Given the description of an element on the screen output the (x, y) to click on. 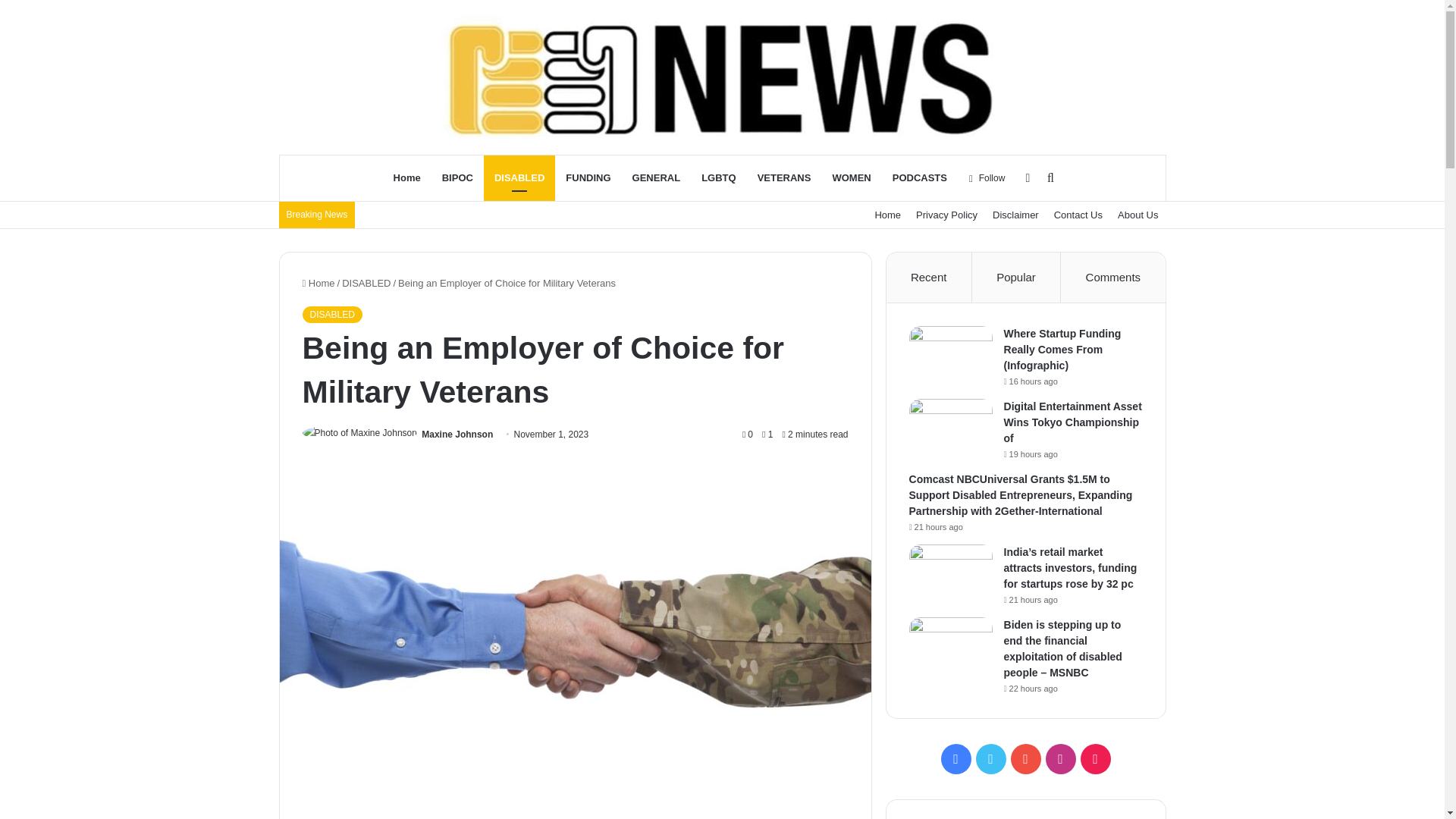
Home (406, 177)
Home (317, 283)
About Us (1137, 214)
BIPOC (456, 177)
WOMEN (850, 177)
GENERAL (656, 177)
Privacy Policy (946, 214)
DISABLED (331, 314)
Disclaimer (1015, 214)
DISABLED (518, 177)
Maxine Johnson (457, 434)
Follow (987, 177)
Maxine Johnson (457, 434)
LGBTQ (718, 177)
VETERANS (784, 177)
